Given the description of an element on the screen output the (x, y) to click on. 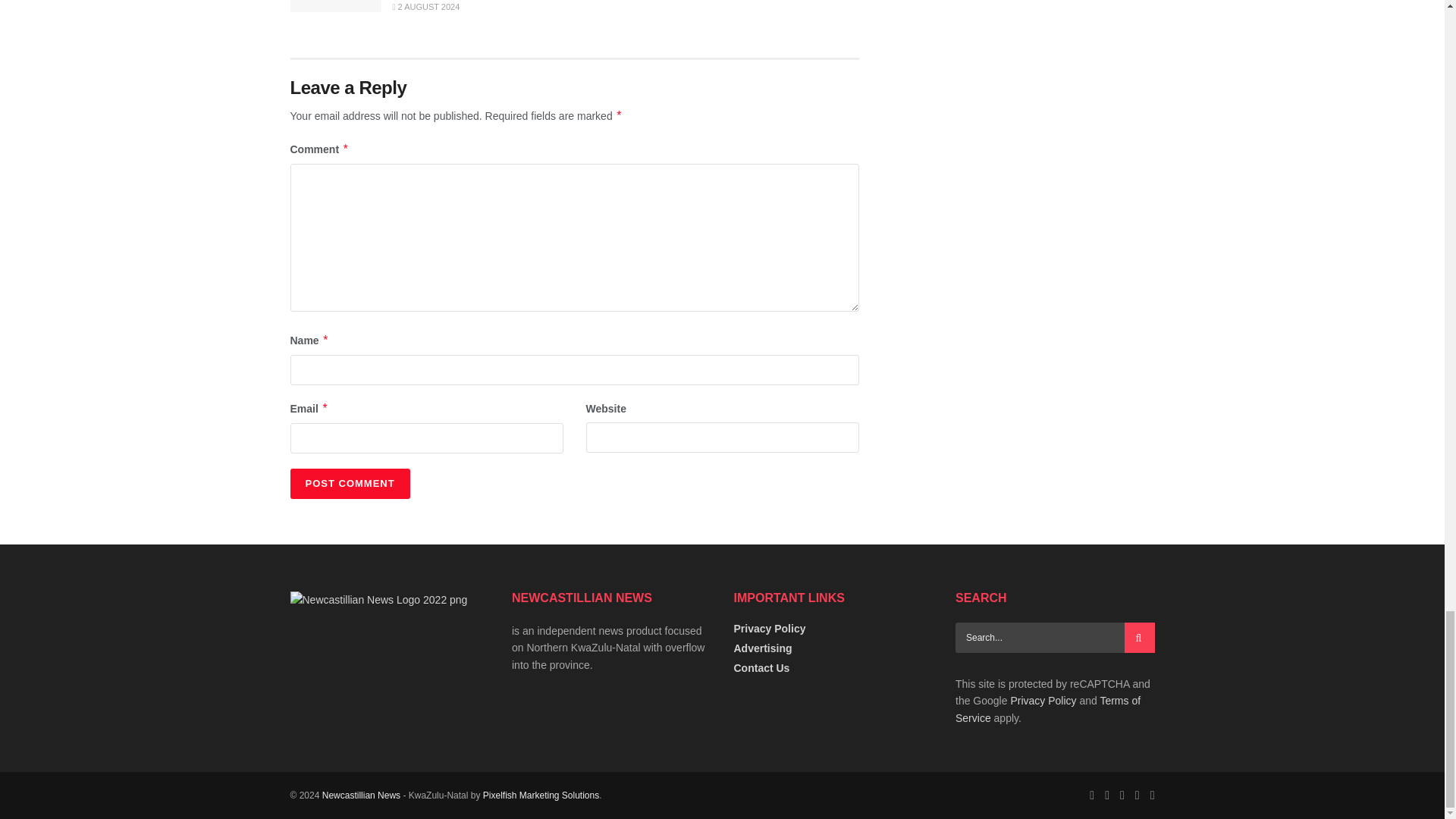
Newcastillian News (360, 795)
Pixelfish Marketing Solutions (540, 795)
Post Comment (349, 483)
